Given the description of an element on the screen output the (x, y) to click on. 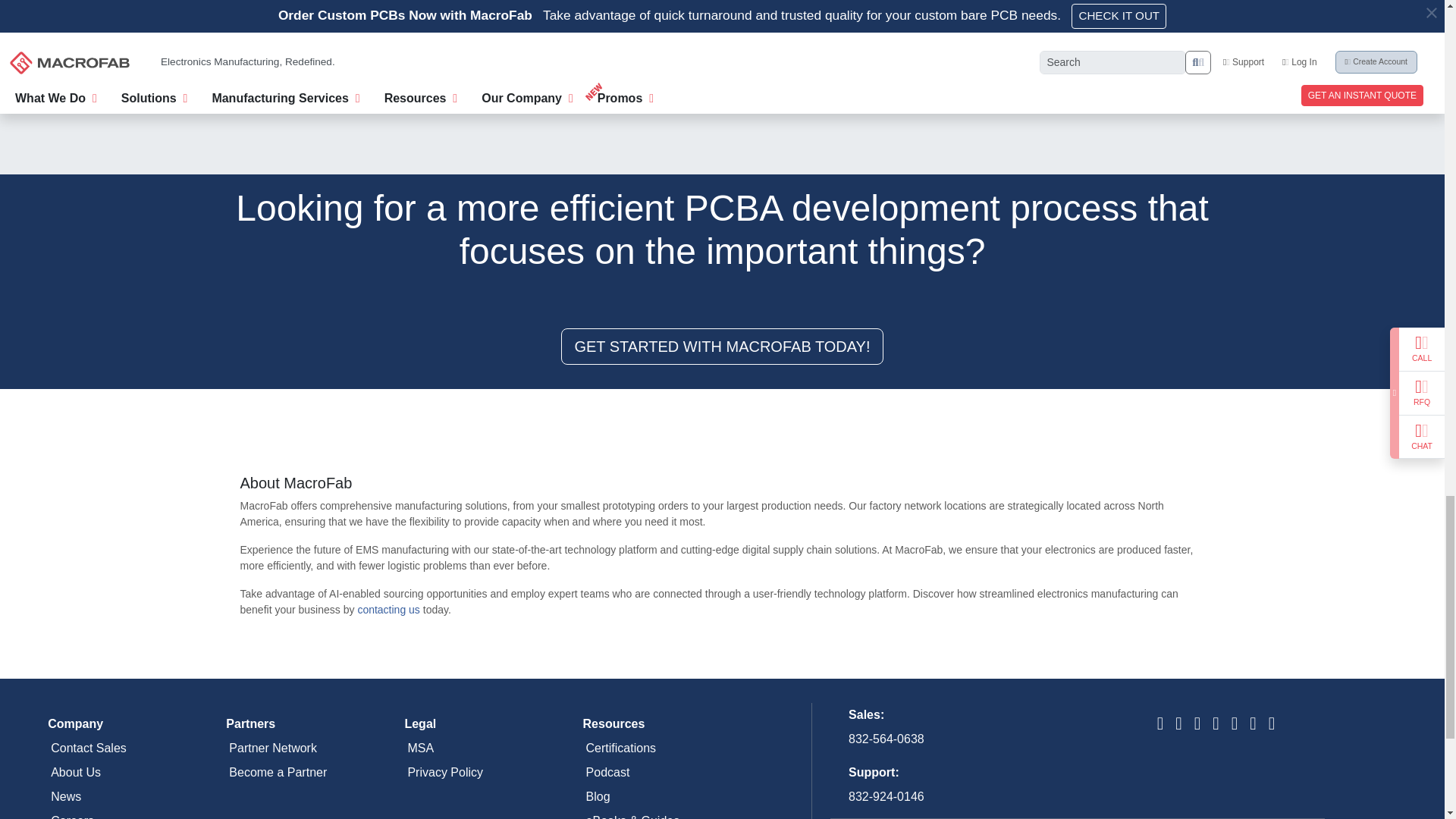
Facebook (1215, 725)
Instagram (1234, 725)
LinkedIn (1177, 725)
YouTube (1160, 725)
Twitter (1196, 725)
GitHub (1252, 725)
Discourse (1271, 725)
